Given the description of an element on the screen output the (x, y) to click on. 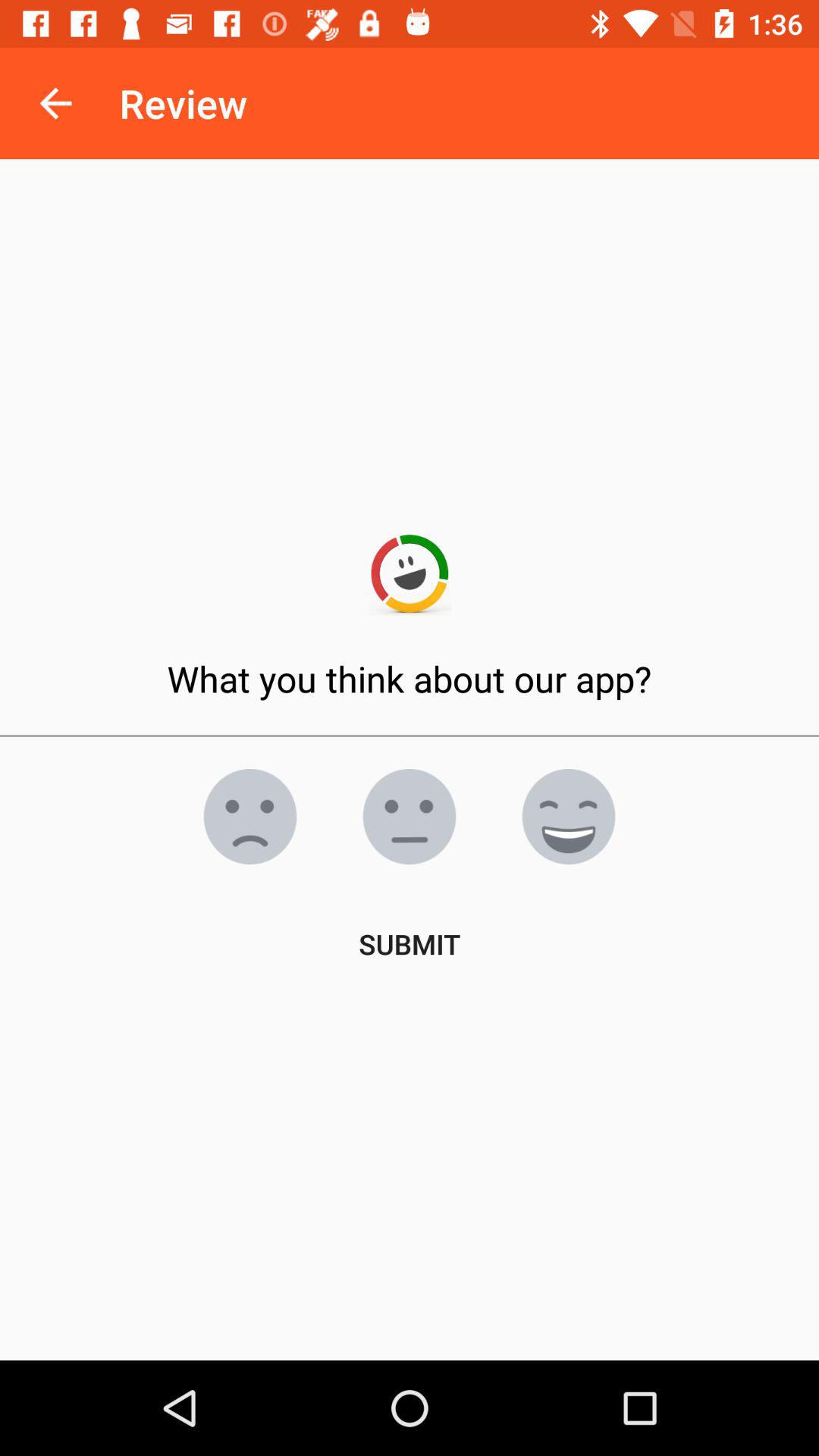
pick the right smiley (249, 816)
